Given the description of an element on the screen output the (x, y) to click on. 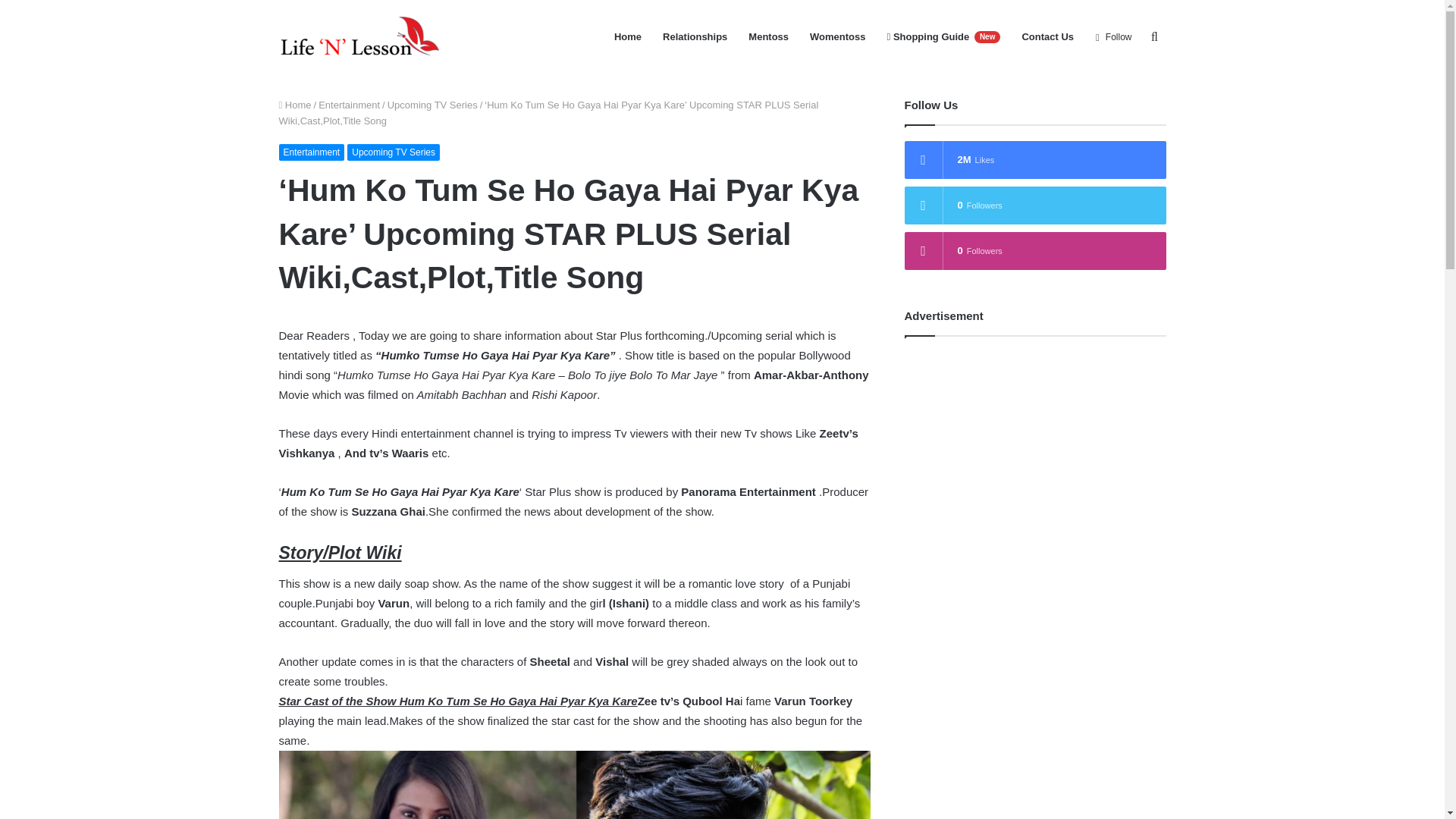
Advertisement (1035, 458)
Relationships (695, 37)
Contact Us (1047, 37)
Entertainment (312, 152)
Life 'N' Lesson (360, 36)
Home (295, 104)
Womentoss (837, 37)
Entertainment (349, 104)
Shopping Guide New (943, 37)
Upcoming TV Series (393, 152)
Upcoming TV Series (432, 104)
